Given the description of an element on the screen output the (x, y) to click on. 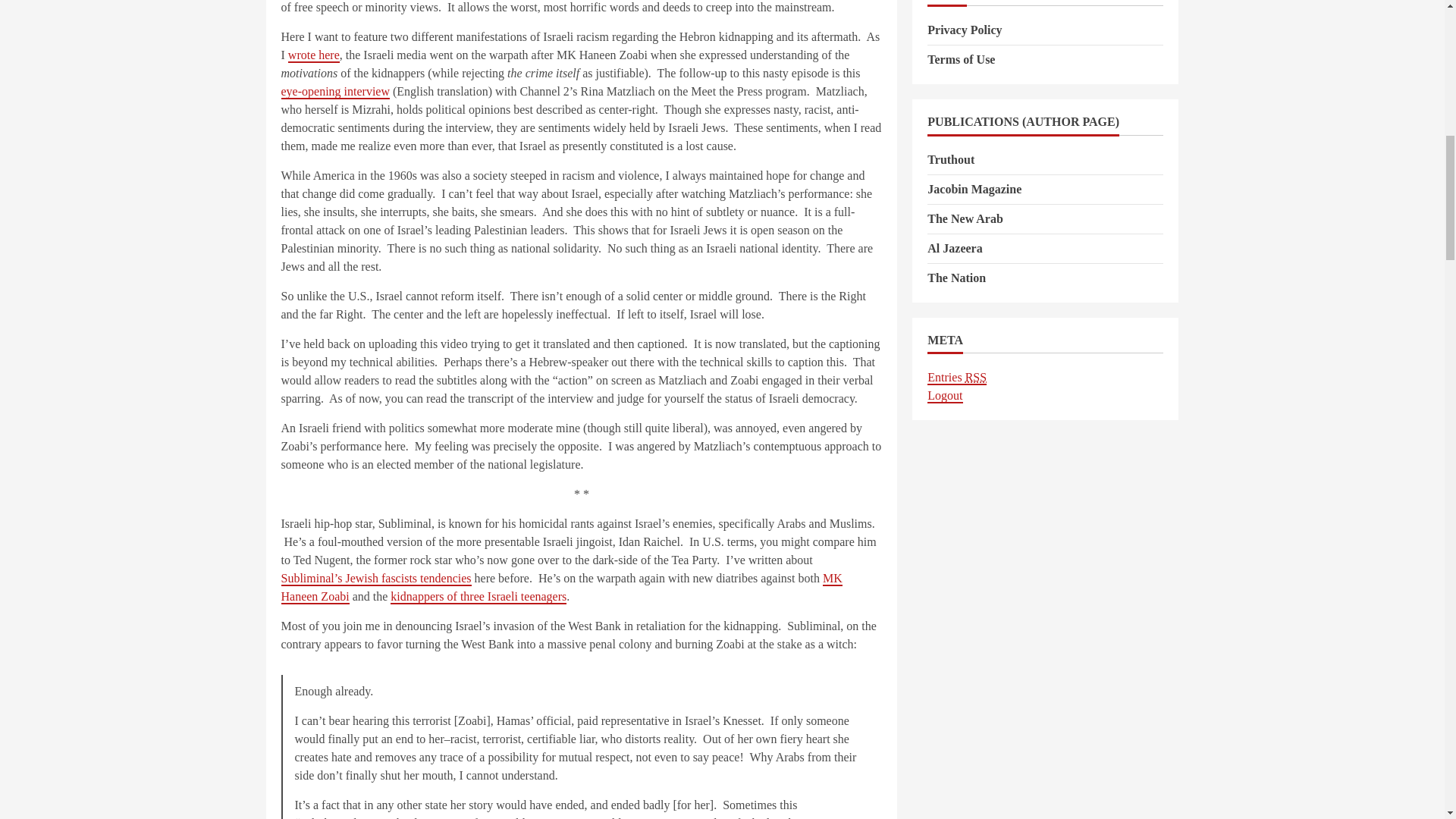
wrote here (313, 55)
Really Simple Syndication (976, 377)
Israeli Hip-Hop Star Calls for Burning Palestinians Alive (375, 578)
kidnappers of three Israeli teenagers (478, 596)
eye-opening interview (335, 92)
MK Haneen Zoabi (561, 587)
